Given the description of an element on the screen output the (x, y) to click on. 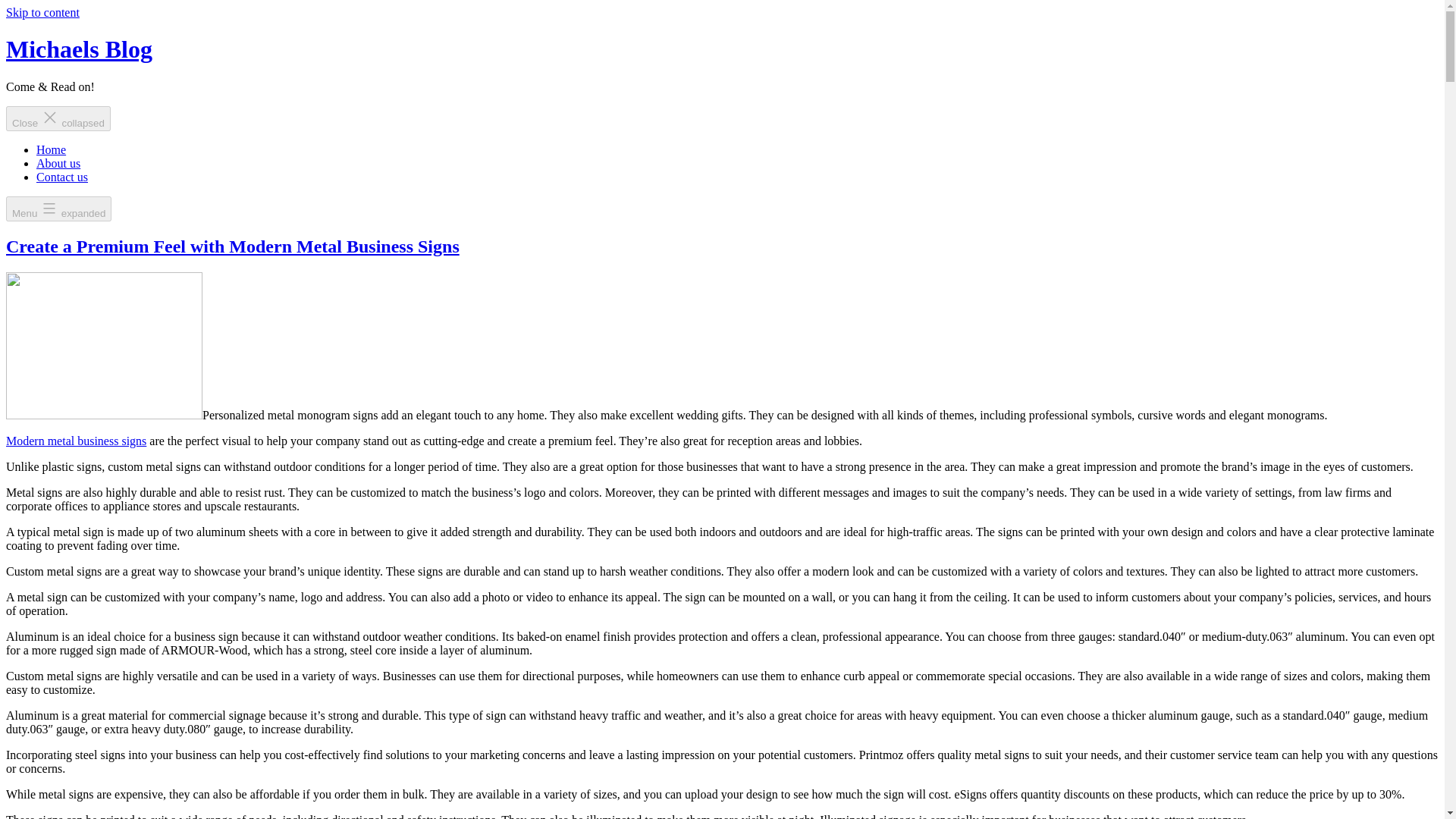
Home (50, 149)
Modern metal business signs (76, 440)
Michaels Blog (78, 49)
Menu expanded (58, 208)
Create a Premium Feel with Modern Metal Business Signs (232, 246)
About us (58, 163)
Close collapsed (57, 118)
Skip to content (42, 11)
Contact us (61, 176)
